Given the description of an element on the screen output the (x, y) to click on. 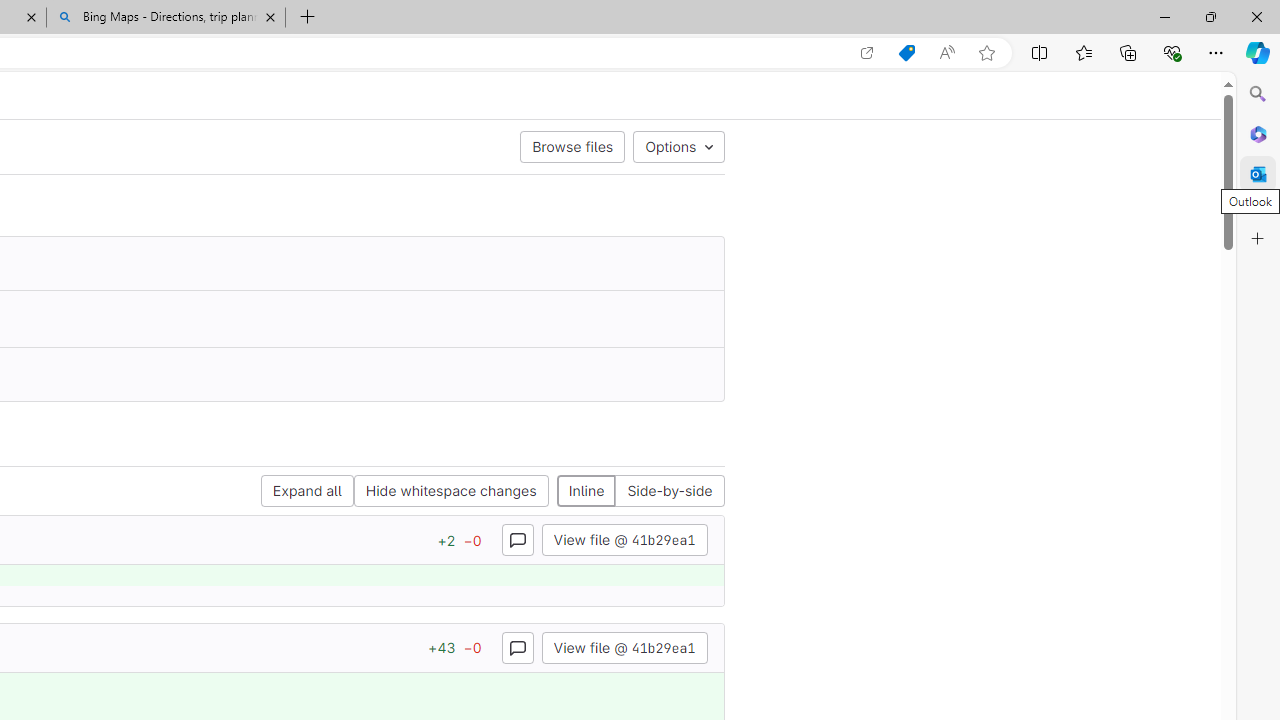
Inline (585, 491)
Shopping in Microsoft Edge (906, 53)
Side-by-side (669, 491)
Open in app (867, 53)
Class: s16 gl-icon gl-button-icon  (517, 647)
View file @ 41b29ea1 (624, 646)
Options (678, 146)
